Given the description of an element on the screen output the (x, y) to click on. 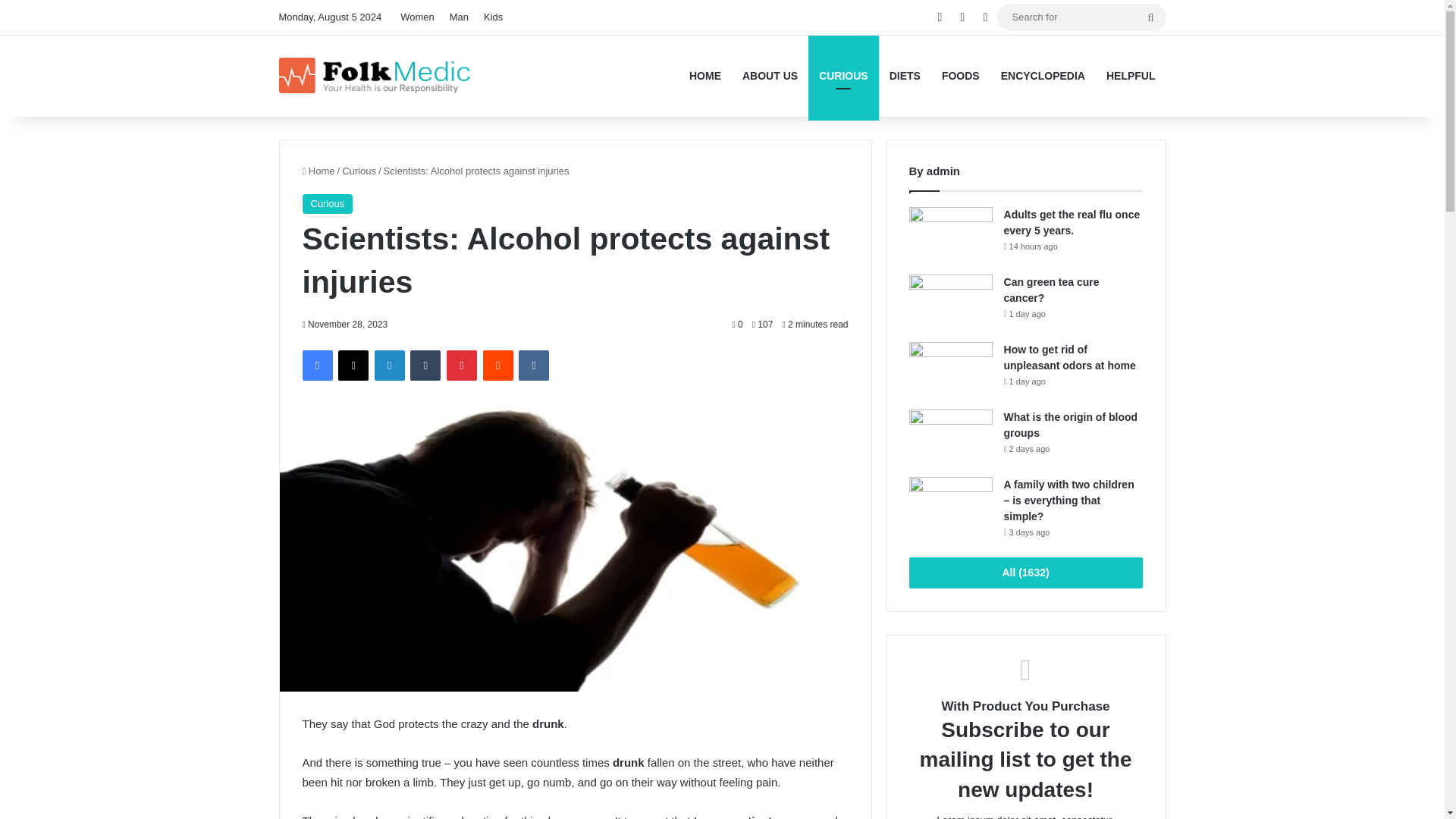
X (352, 365)
LinkedIn (389, 365)
Home (317, 170)
Random Article (940, 17)
Facebook (316, 365)
HOME (705, 76)
FolkMedic (376, 75)
Pinterest (461, 365)
ABOUT US (770, 76)
ENCYCLOPEDIA (1043, 76)
Women (417, 17)
VKontakte (533, 365)
HELPFUL (1131, 76)
X (352, 365)
Switch skin (985, 17)
